Given the description of an element on the screen output the (x, y) to click on. 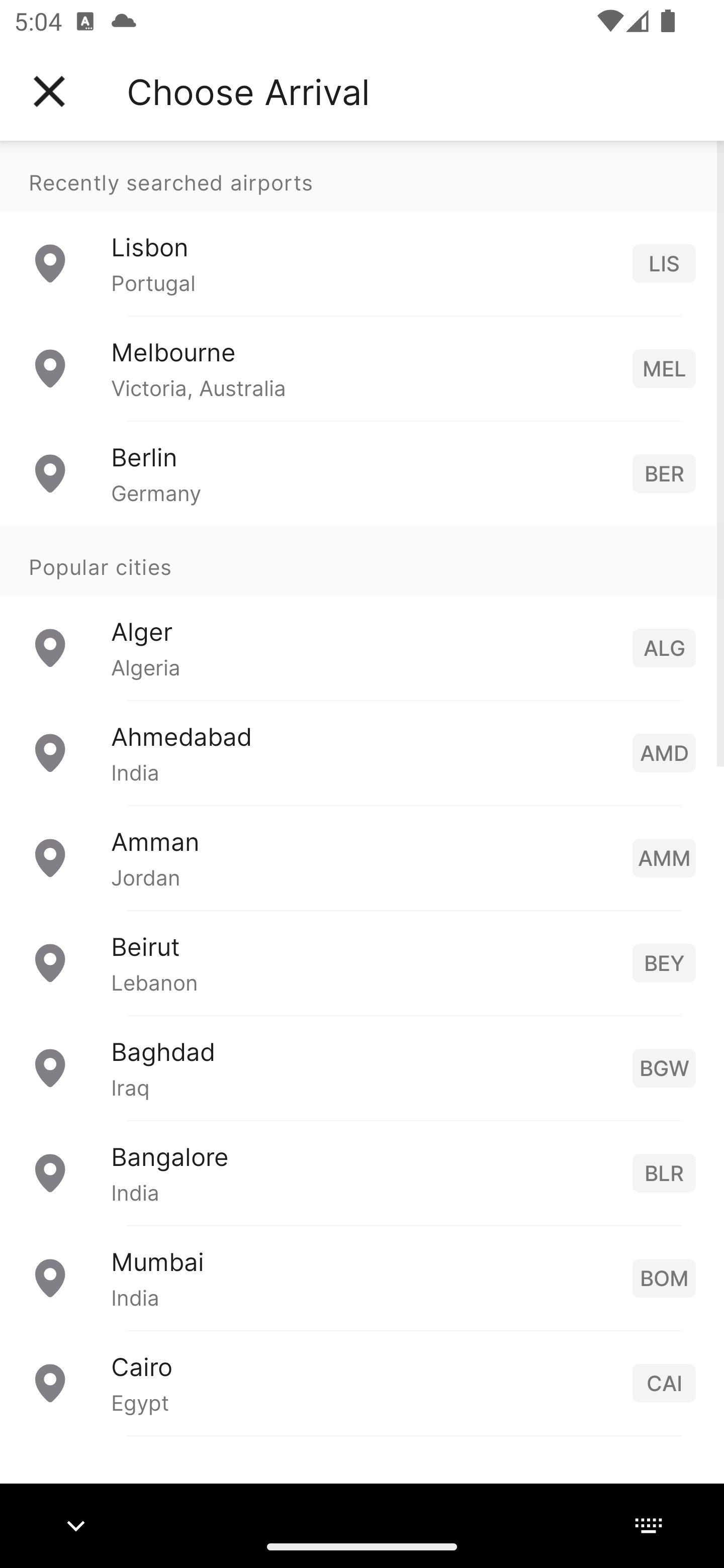
Choose Arrival (247, 91)
Recently searched airports Lisbon Portugal LIS (362, 228)
Recently searched airports (362, 176)
Melbourne Victoria, Australia MEL (362, 367)
Berlin Germany BER (362, 472)
Popular cities Alger Algeria ALG (362, 612)
Popular cities (362, 560)
Ahmedabad India AMD (362, 751)
Amman Jordan AMM (362, 856)
Beirut Lebanon BEY (362, 961)
Baghdad Iraq BGW (362, 1066)
Bangalore India BLR (362, 1171)
Mumbai India BOM (362, 1276)
Cairo Egypt CAI (362, 1381)
